Given the description of an element on the screen output the (x, y) to click on. 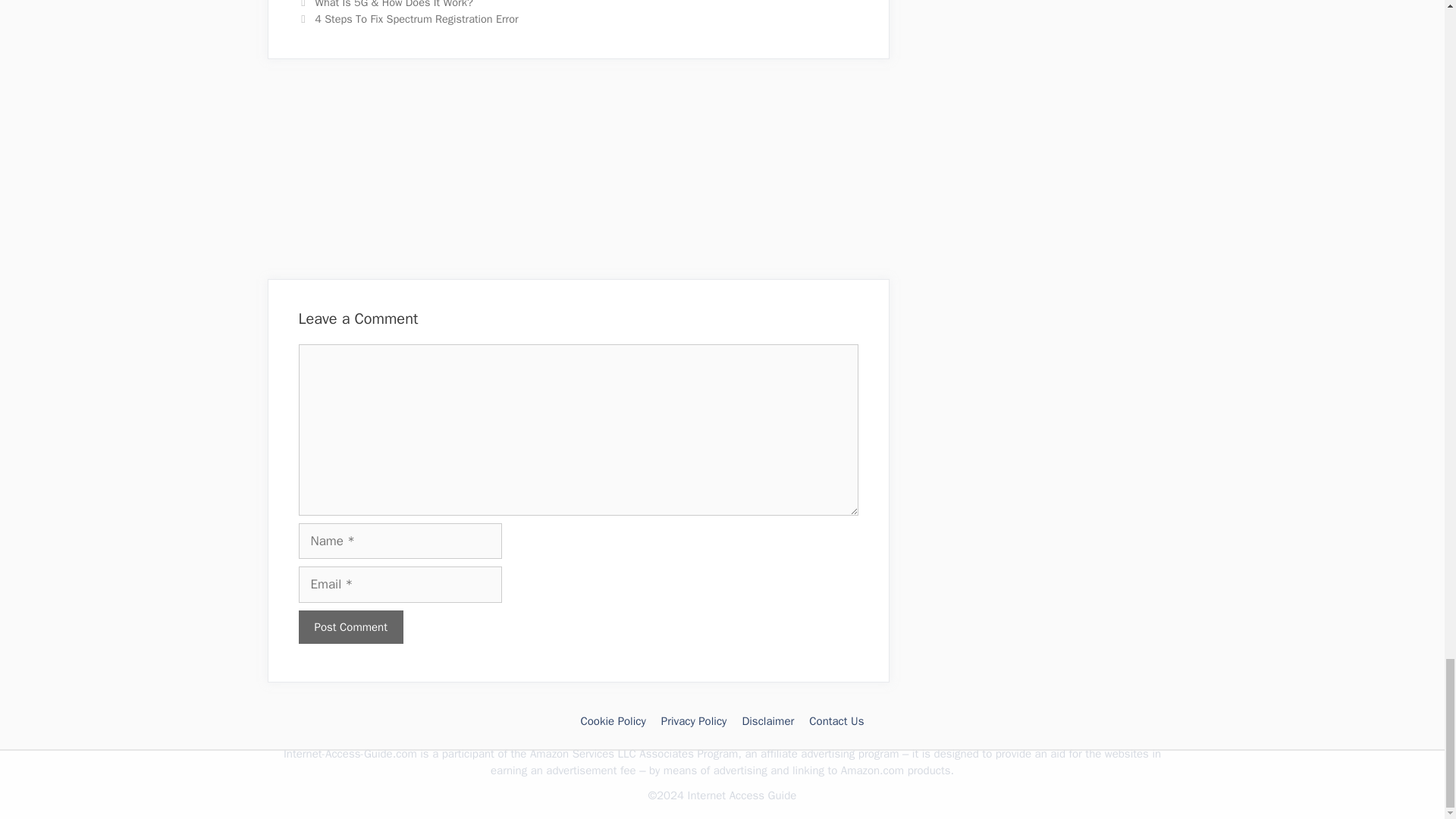
Post Comment (350, 627)
Previous (385, 4)
Next (408, 18)
